Given the description of an element on the screen output the (x, y) to click on. 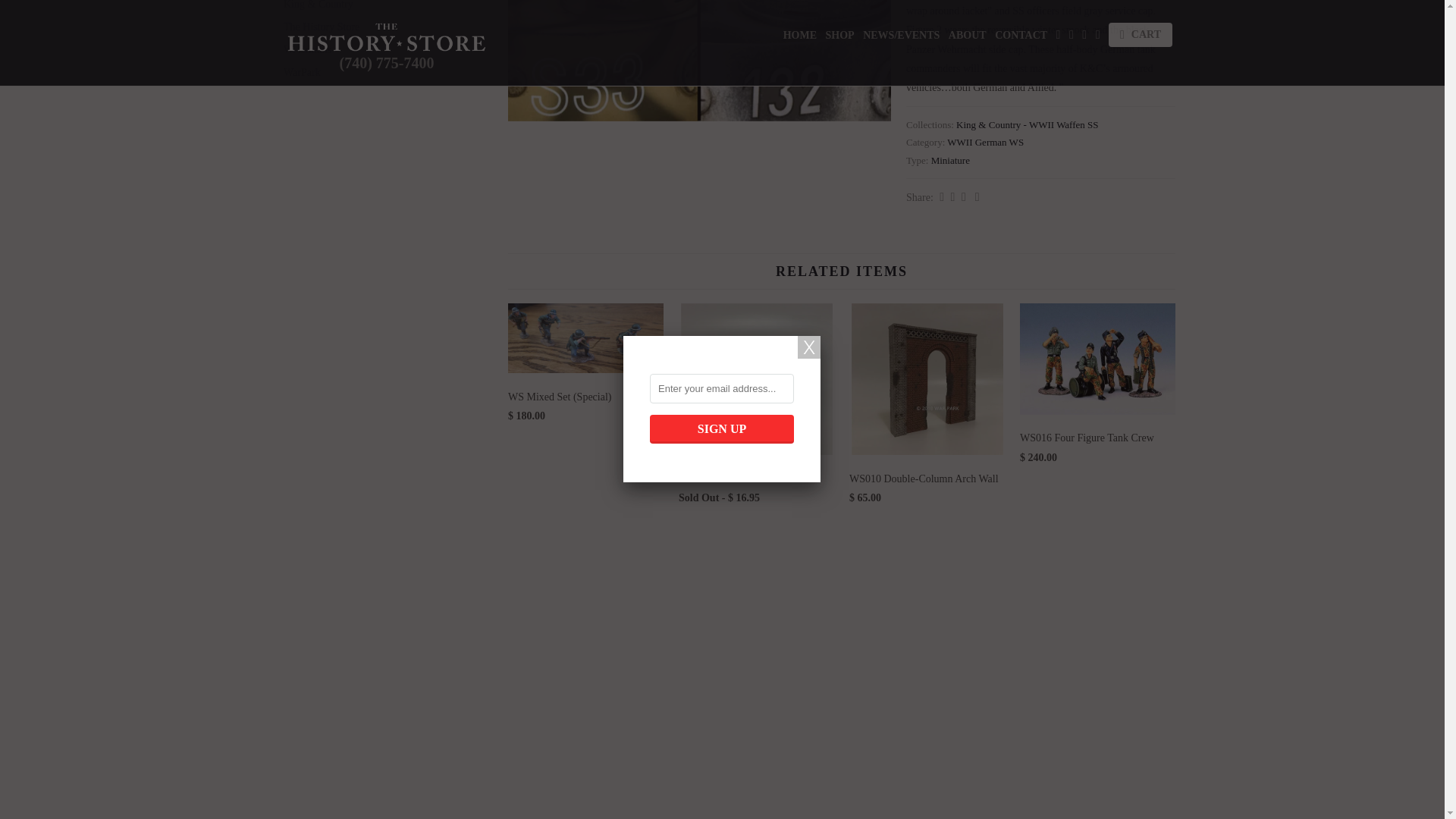
The History Store (380, 27)
Sign Up (721, 154)
WarPark (380, 72)
WWII German WS (985, 142)
Miniature (950, 160)
W. Britains (380, 49)
